Given the description of an element on the screen output the (x, y) to click on. 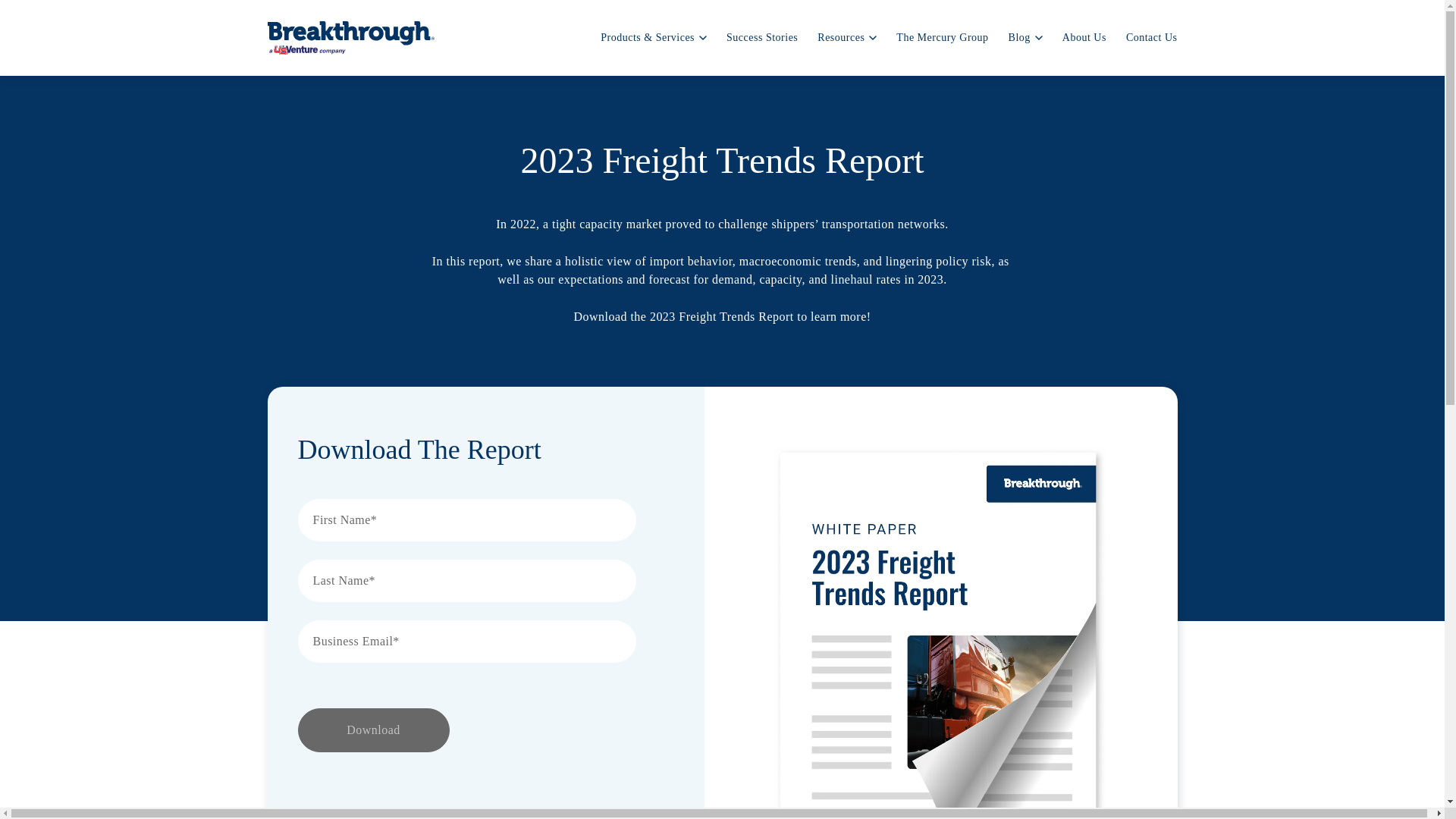
Contact Us (1151, 38)
Success Stories (761, 38)
The Mercury Group (942, 38)
Resources (846, 38)
Blog (1025, 38)
About Us (1084, 38)
